Given the description of an element on the screen output the (x, y) to click on. 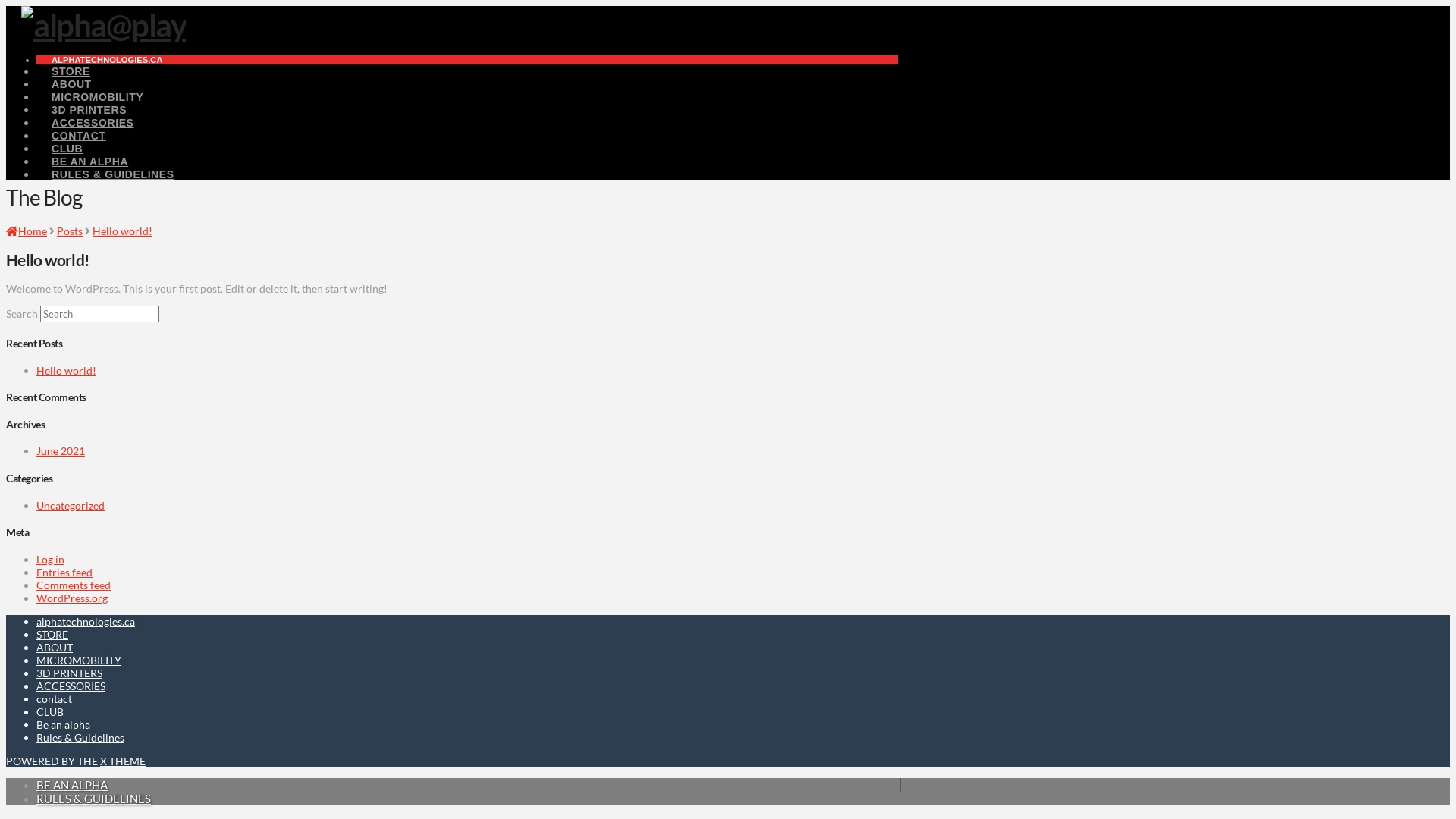
alphatechnologies.ca Element type: text (85, 621)
June 2021 Element type: text (60, 450)
ABOUT Element type: text (54, 646)
RULES & GUIDELINES Element type: text (93, 798)
WordPress.org Element type: text (71, 597)
Posts Element type: text (69, 230)
Rules & Guidelines Element type: text (80, 737)
contact Element type: text (54, 698)
3D PRINTERS Element type: text (88, 109)
RULES & GUIDELINES Element type: text (112, 174)
CONTACT Element type: text (78, 135)
ABOUT Element type: text (71, 83)
Uncategorized Element type: text (70, 504)
ACCESSORIES Element type: text (92, 122)
BE AN ALPHA Element type: text (89, 161)
3D PRINTERS Element type: text (69, 672)
Be an alpha Element type: text (63, 724)
Comments feed Element type: text (73, 584)
Entries feed Element type: text (64, 571)
STORE Element type: text (52, 633)
Home Element type: text (26, 230)
Log in Element type: text (50, 558)
ACCESSORIES Element type: text (70, 685)
CLUB Element type: text (49, 711)
Hello world! Element type: text (66, 370)
MICROMOBILITY Element type: text (97, 96)
CLUB Element type: text (66, 148)
BE AN ALPHA Element type: text (71, 784)
MICROMOBILITY Element type: text (78, 659)
STORE Element type: text (70, 71)
Hello world! Element type: text (122, 230)
ALPHATECHNOLOGIES.CA Element type: text (106, 58)
X THEME Element type: text (122, 760)
